Given the description of an element on the screen output the (x, y) to click on. 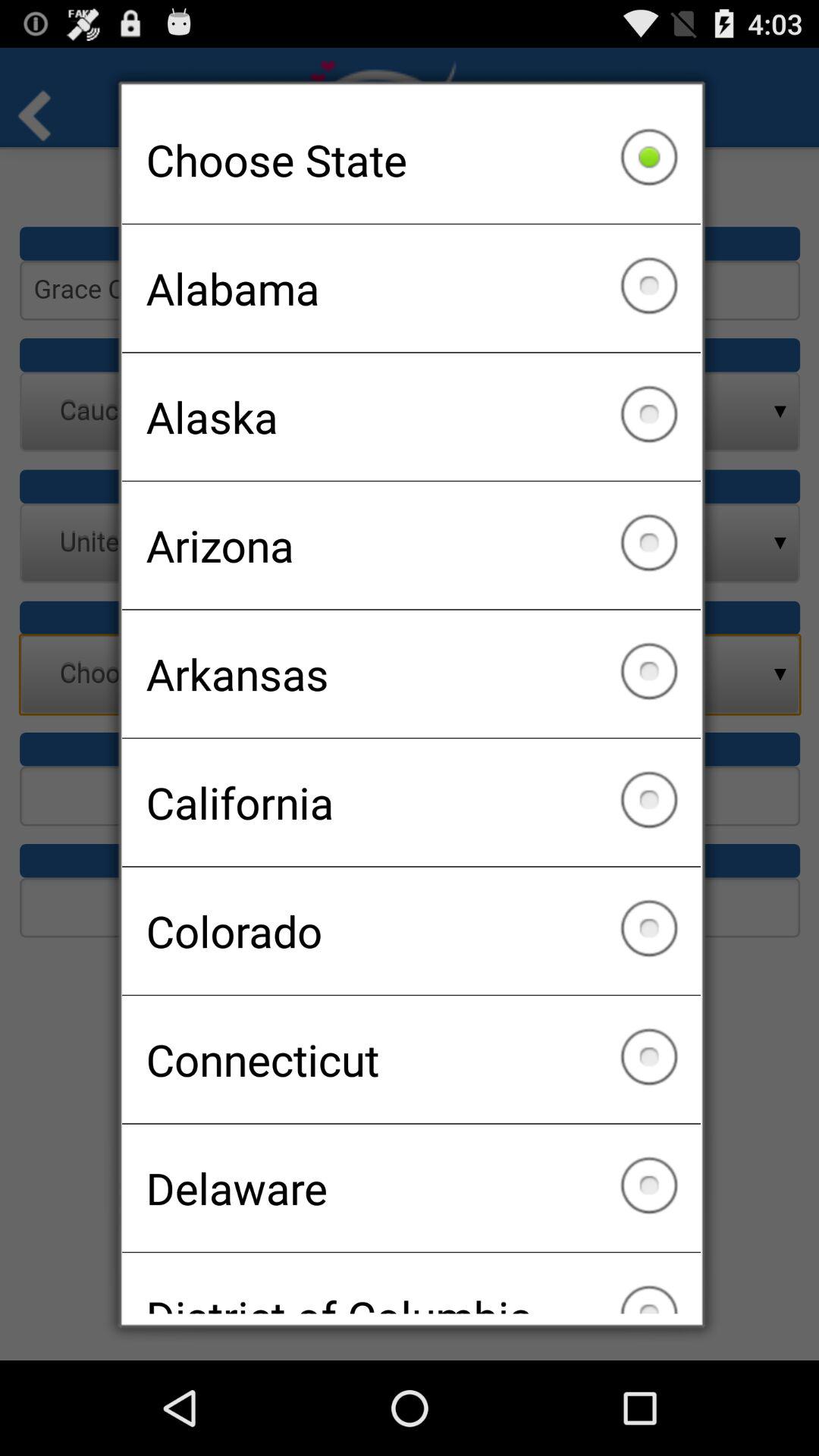
open item above the california checkbox (411, 673)
